Given the description of an element on the screen output the (x, y) to click on. 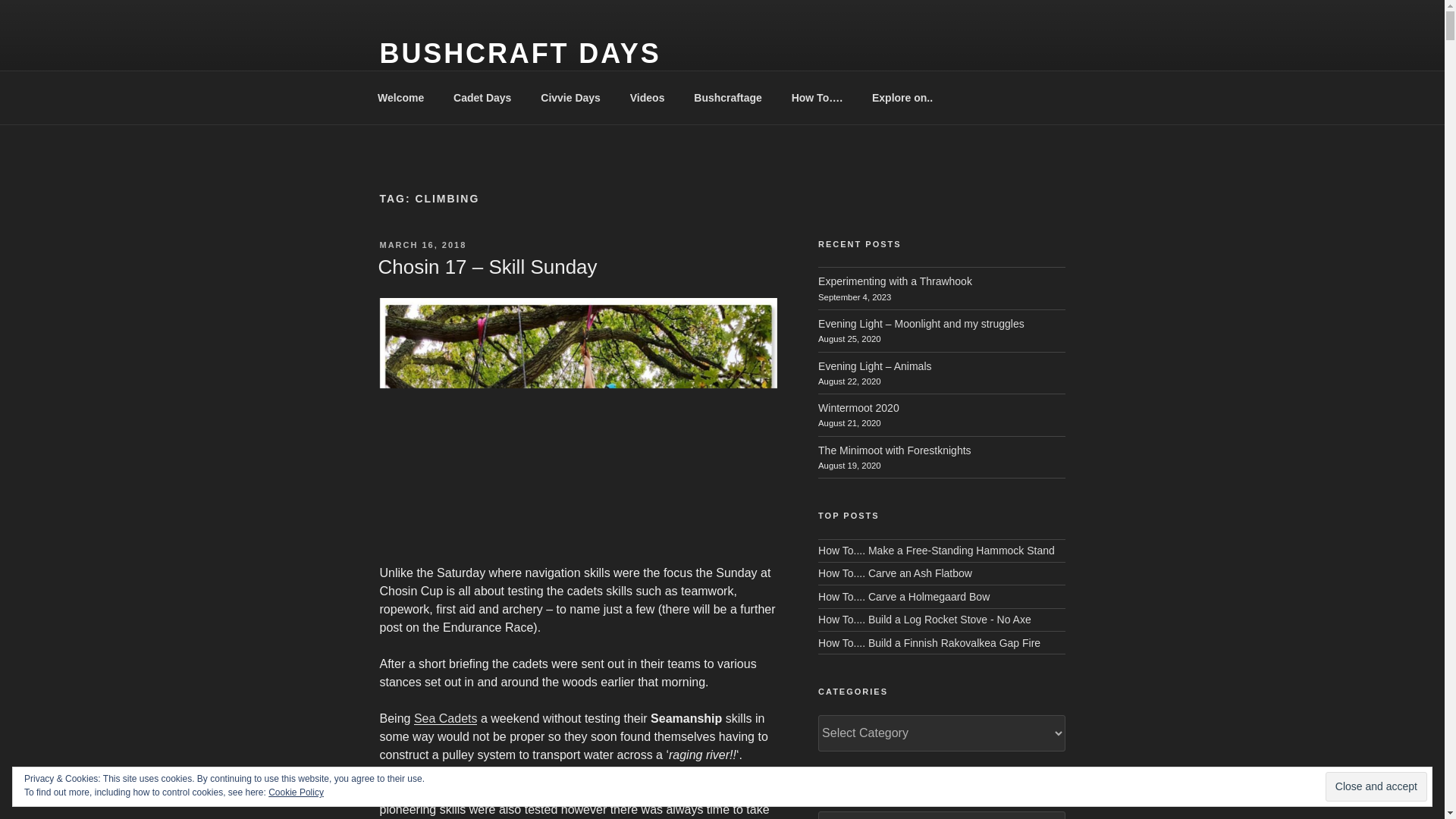
Civvie Days (570, 97)
Sea Cadets (445, 717)
Bushcraftage (727, 97)
Explore on.. (901, 97)
Videos (646, 97)
BUSHCRAFT DAYS (519, 52)
MARCH 16, 2018 (421, 244)
Cadet Days (482, 97)
Close and accept (1375, 786)
Welcome (400, 97)
